Given the description of an element on the screen output the (x, y) to click on. 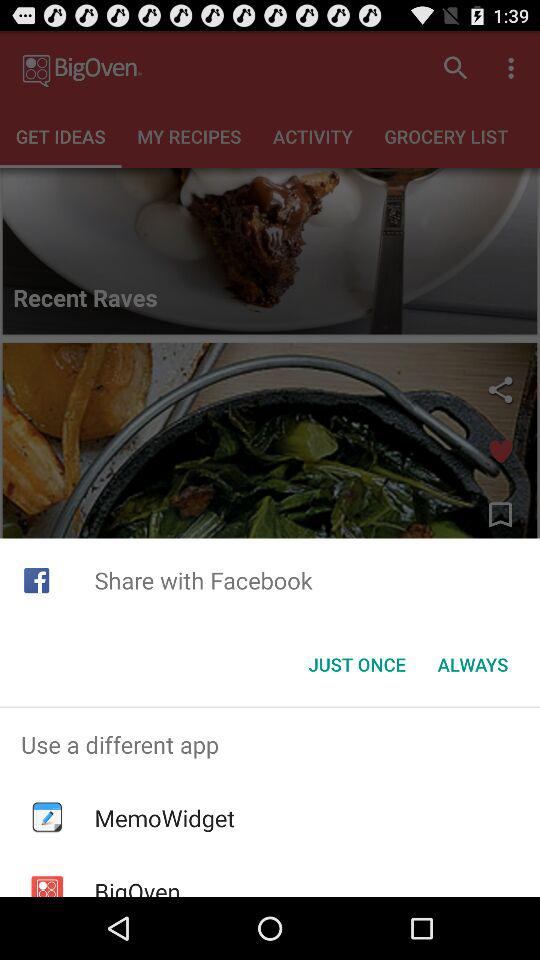
click the button next to the always button (356, 664)
